Given the description of an element on the screen output the (x, y) to click on. 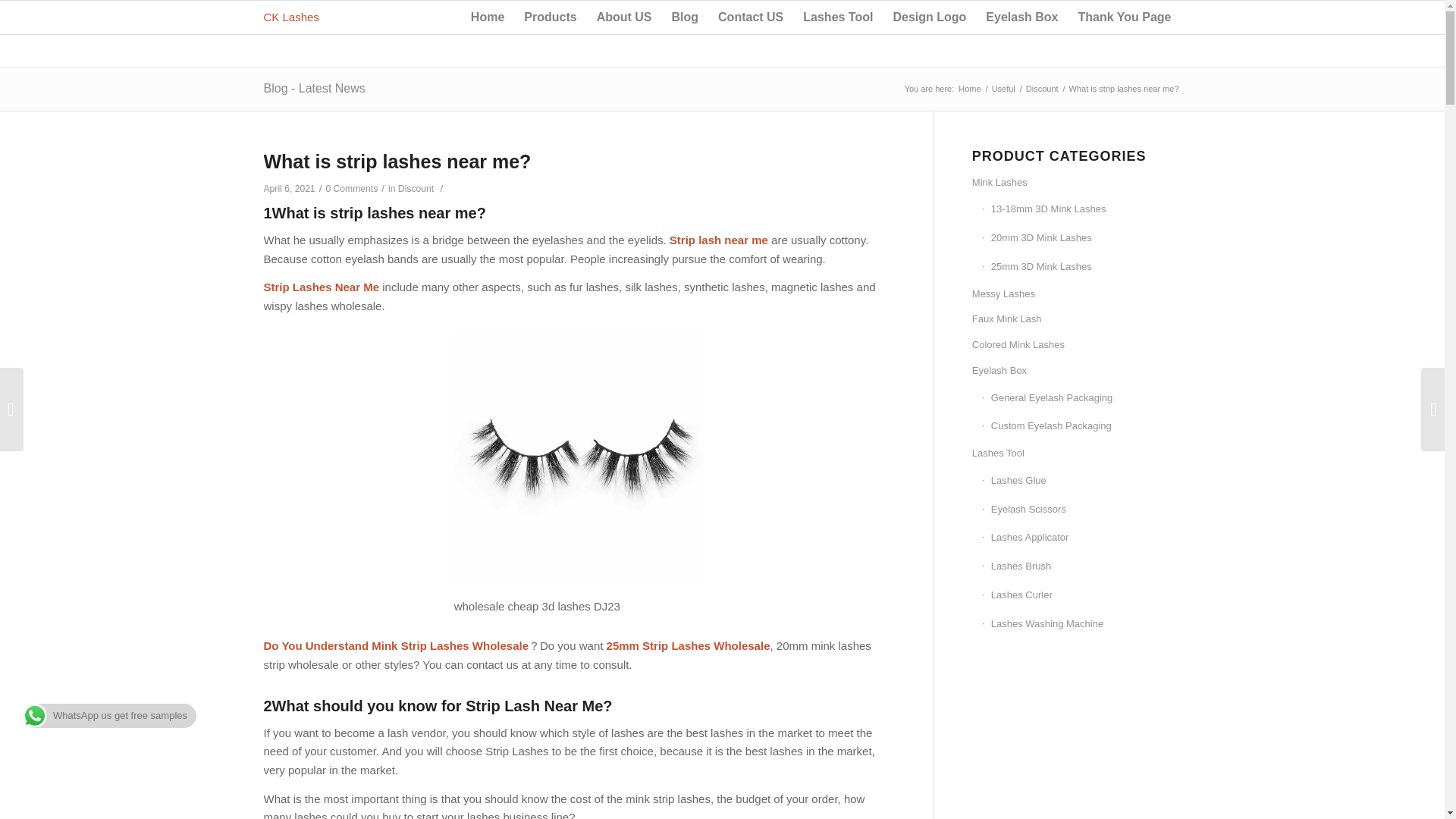
Home (487, 17)
Thank You Page (1123, 17)
Blog - Latest News (314, 88)
Permanent Link: What is strip lashes near me? (397, 160)
CK Lashes (969, 89)
Lashes Tool (837, 17)
Eyelash Box (1021, 17)
Permanent Link: Blog - Latest News (314, 88)
Contact US (750, 17)
Blog (684, 17)
Design Logo (928, 17)
About US (624, 17)
CK Lashes (290, 17)
Products (549, 17)
